Given the description of an element on the screen output the (x, y) to click on. 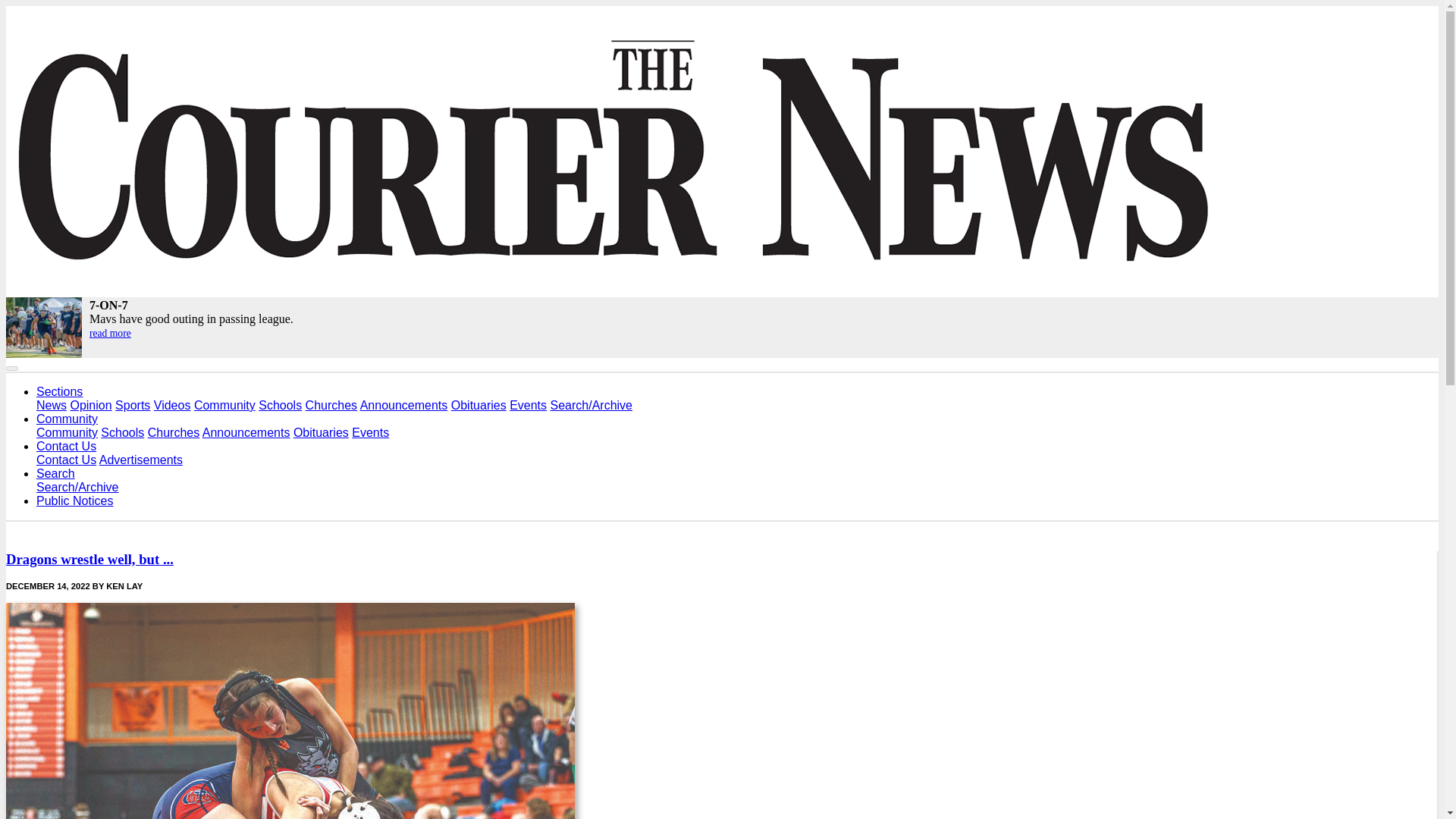
Sections (59, 391)
Dragons wrestle well, but ... (89, 559)
Community (66, 431)
Public Notices (74, 500)
Obituaries (478, 404)
Community (66, 418)
Advertisements (141, 459)
Community (224, 404)
Events (370, 431)
Churches (173, 431)
Videos (172, 404)
read more (109, 333)
Sports (132, 404)
Schools (280, 404)
